Given the description of an element on the screen output the (x, y) to click on. 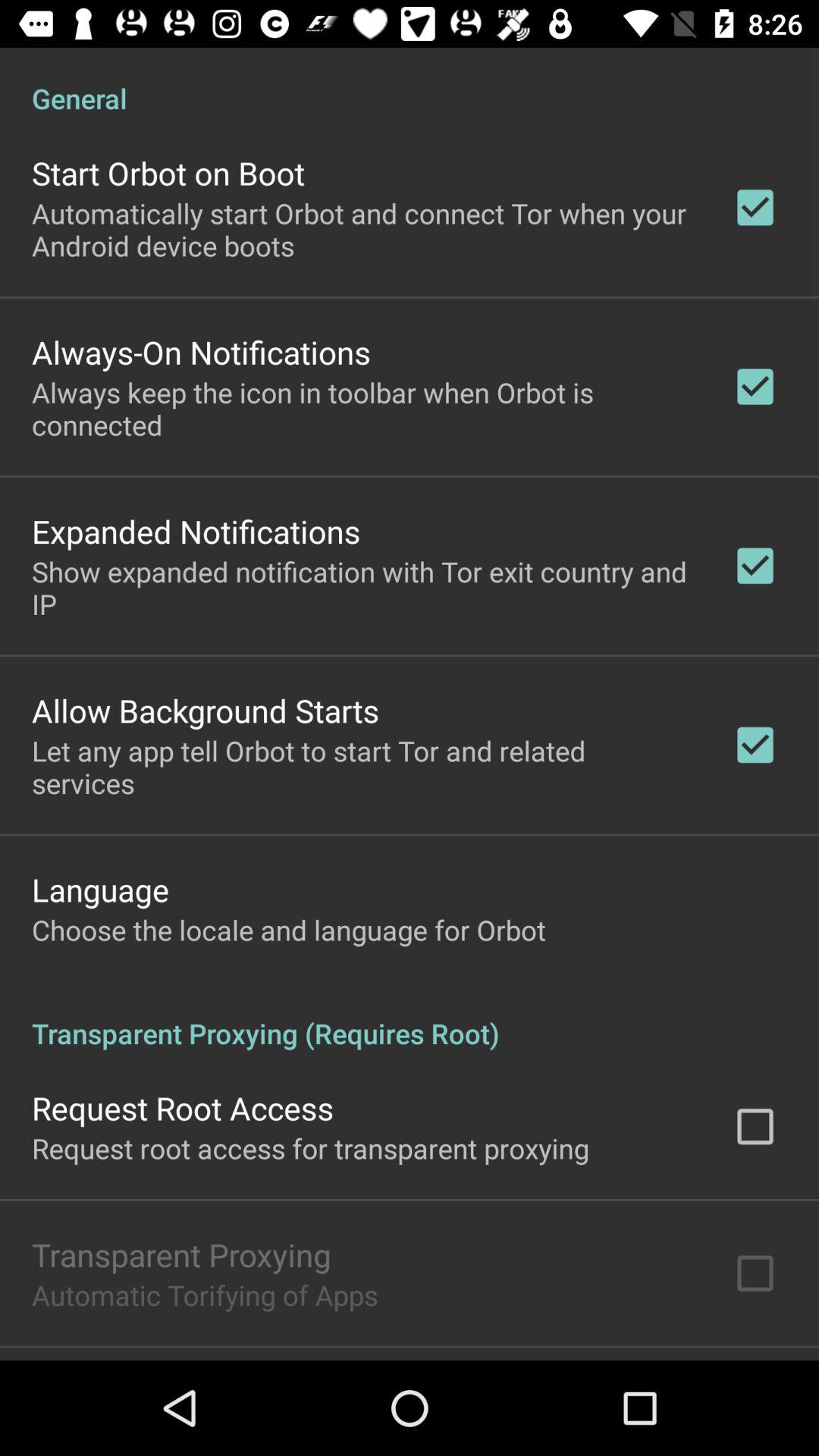
open icon below show expanded notification app (205, 709)
